Given the description of an element on the screen output the (x, y) to click on. 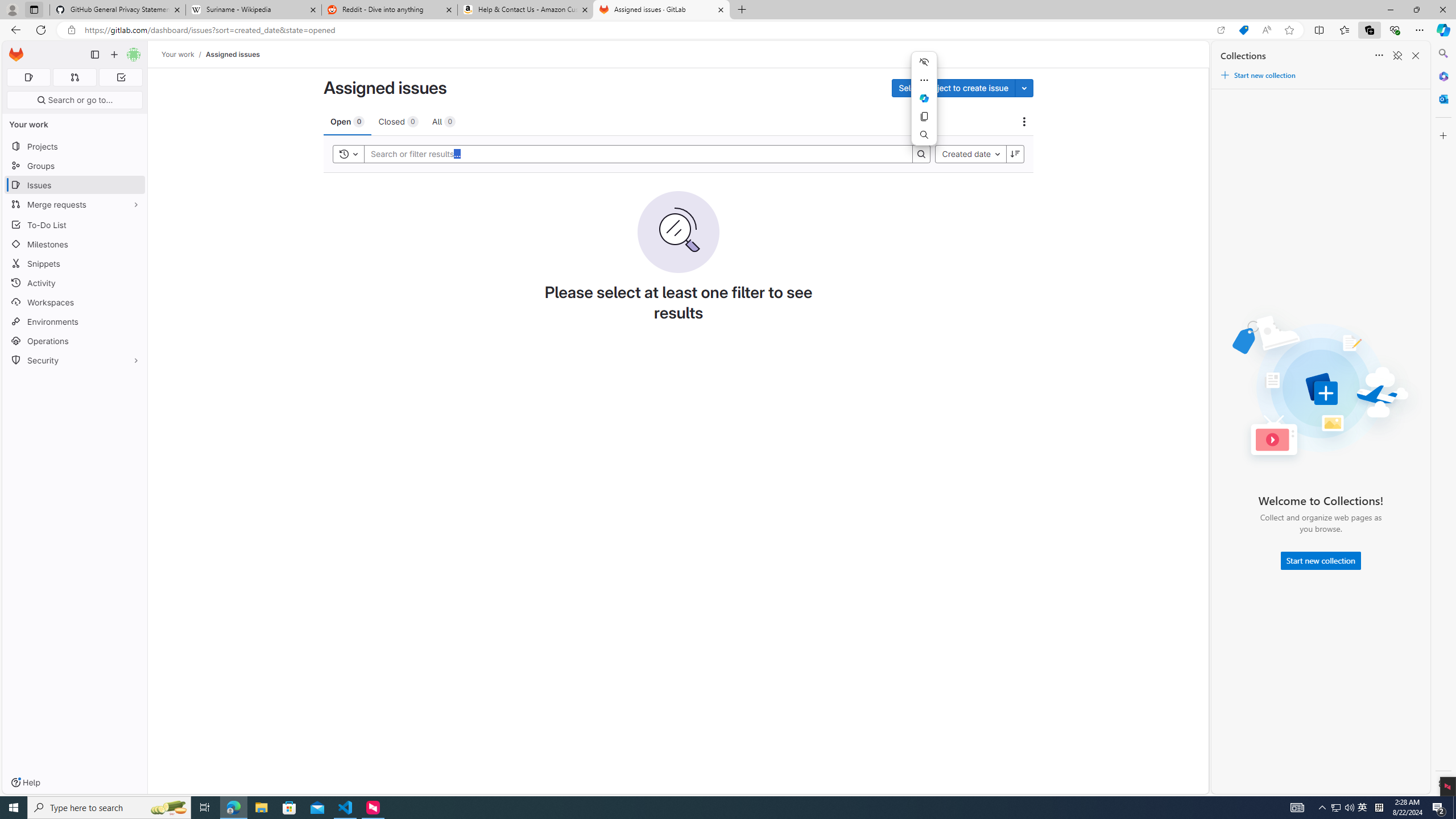
Milestones (74, 244)
Ask Copilot (923, 98)
Actions (1023, 121)
Environments (74, 321)
Unpin Collections (1397, 55)
Assigned issues 0 (28, 76)
Merge requests (74, 203)
Groups (74, 165)
